Given the description of an element on the screen output the (x, y) to click on. 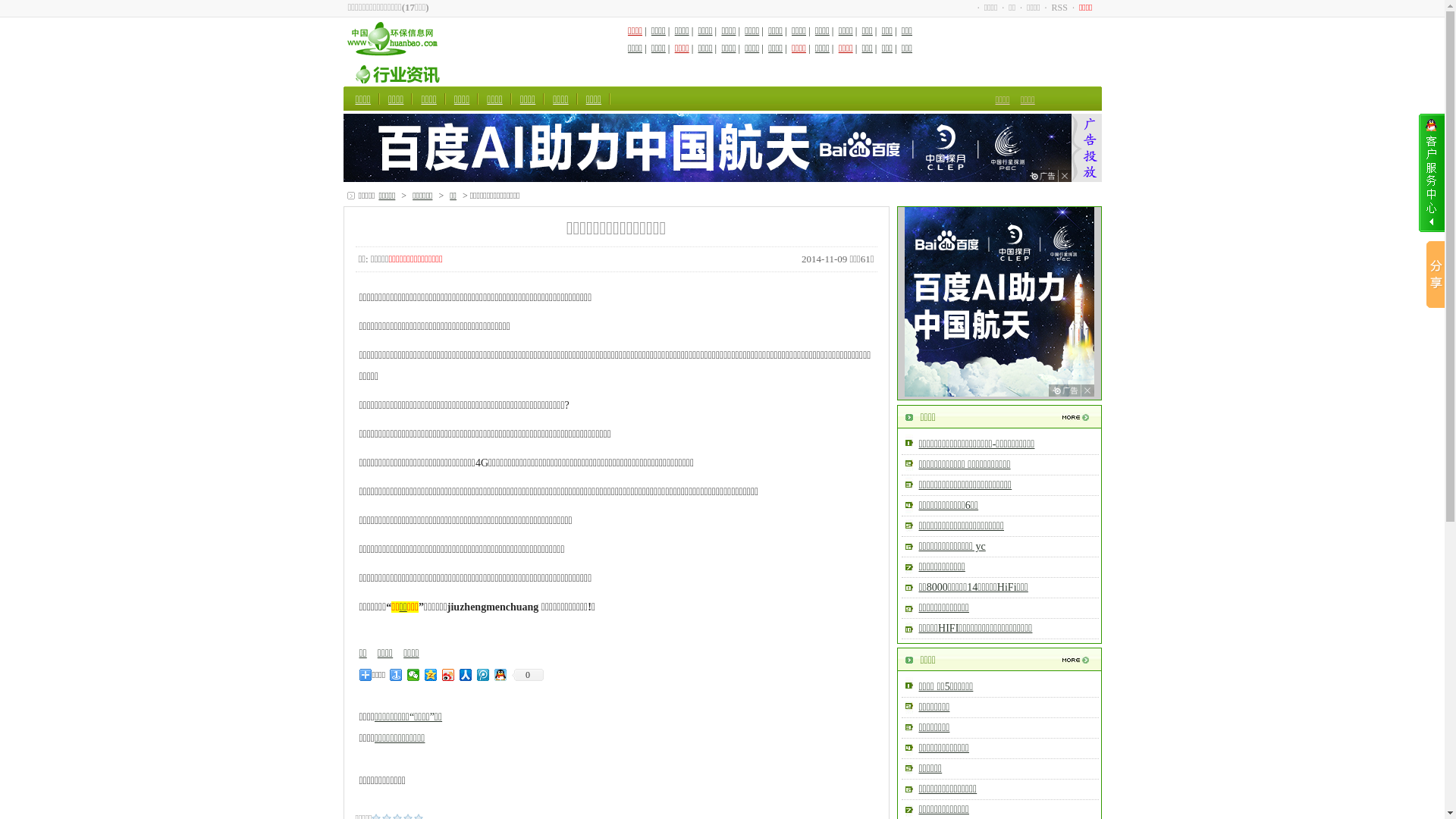
0 Element type: text (527, 674)
RSS Element type: text (1059, 7)
